Given the description of an element on the screen output the (x, y) to click on. 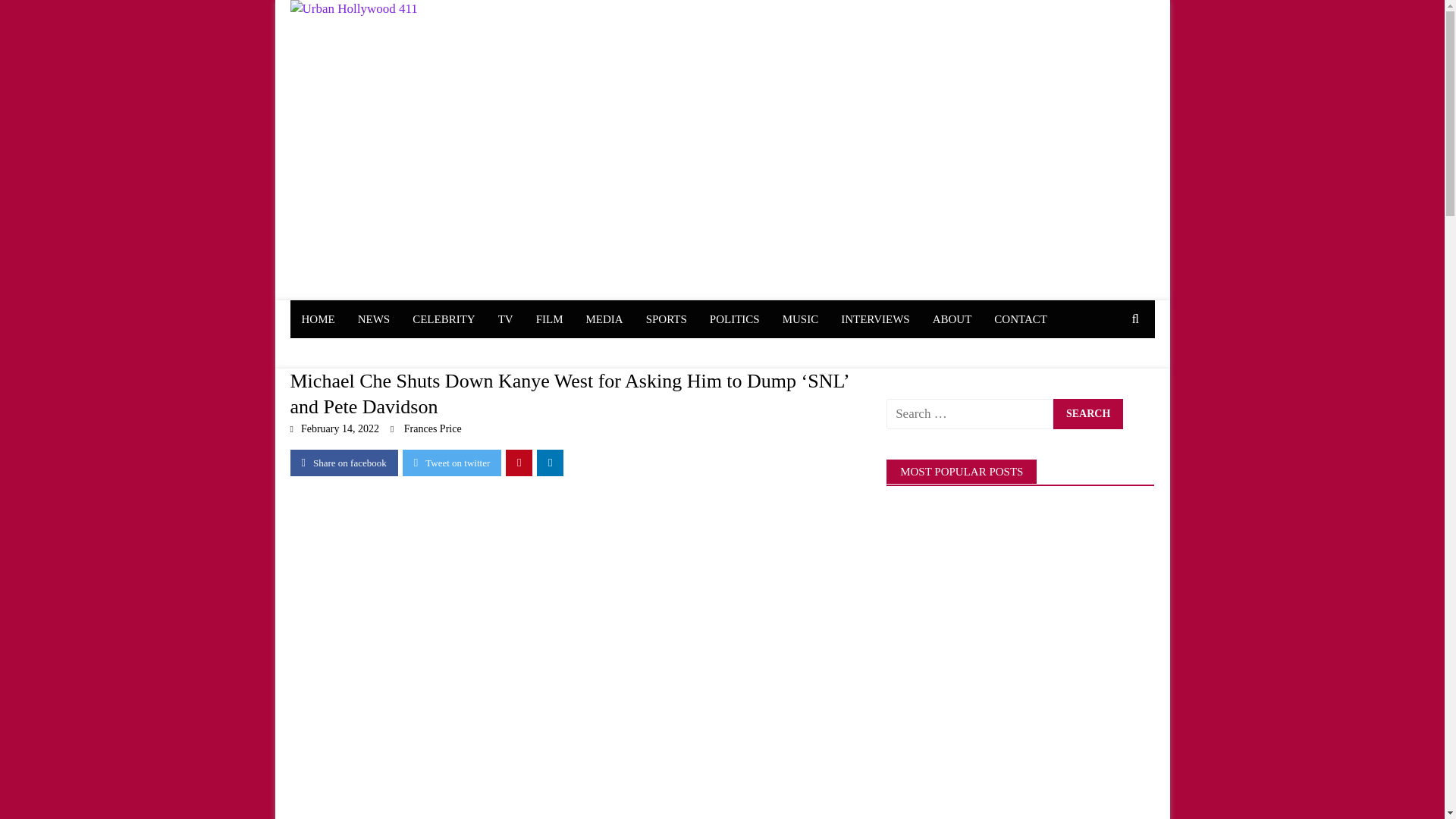
NEWS (373, 319)
INTERVIEWS (874, 319)
FILM (549, 319)
CELEBRITY (443, 319)
MUSIC (800, 319)
SPORTS (666, 319)
CONTACT (1020, 319)
Search (1087, 413)
POLITICS (734, 319)
ABOUT (952, 319)
